Given the description of an element on the screen output the (x, y) to click on. 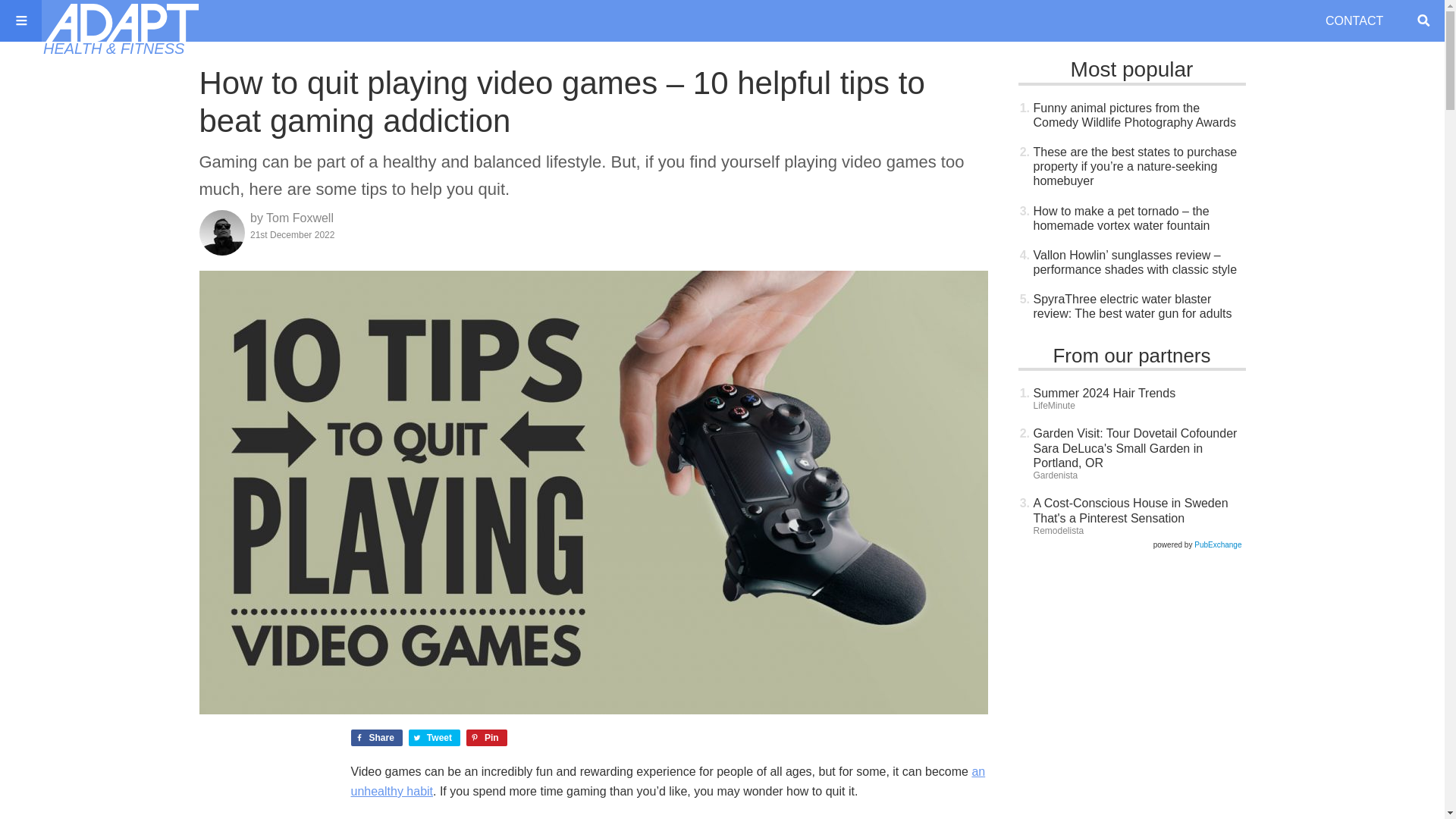
Share (375, 737)
Toggle Menu (21, 19)
Share on Facebook (375, 737)
Tom Foxwell (299, 217)
Search ADAPT Network (1423, 19)
an unhealthy habit (667, 780)
Share on Pinterest (485, 737)
Search ADAPT Network (1423, 19)
Pin (485, 737)
